Given the description of an element on the screen output the (x, y) to click on. 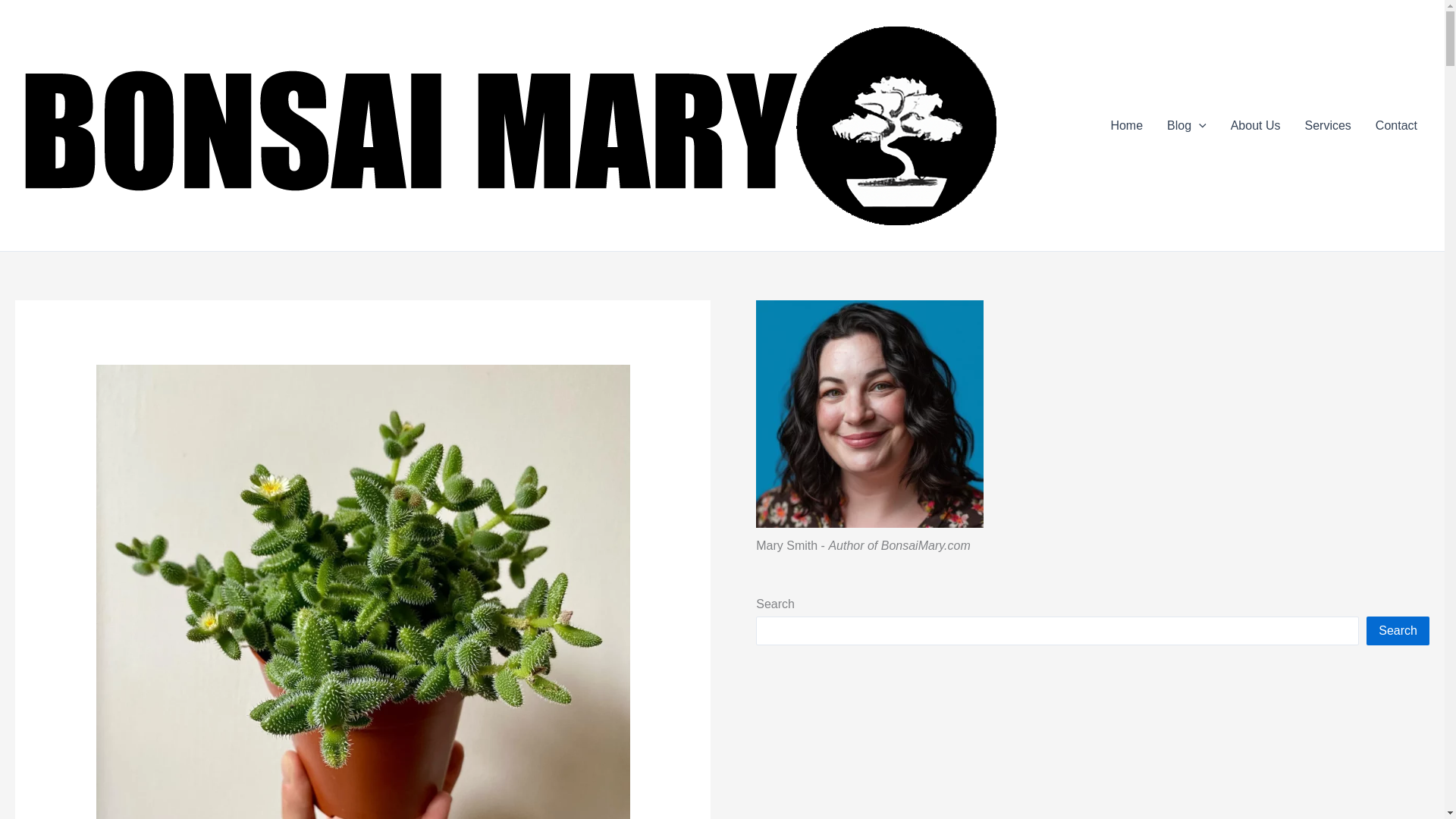
Services (1327, 125)
Blog (1186, 125)
Home (1125, 125)
About Us (1255, 125)
Contact (1395, 125)
